Given the description of an element on the screen output the (x, y) to click on. 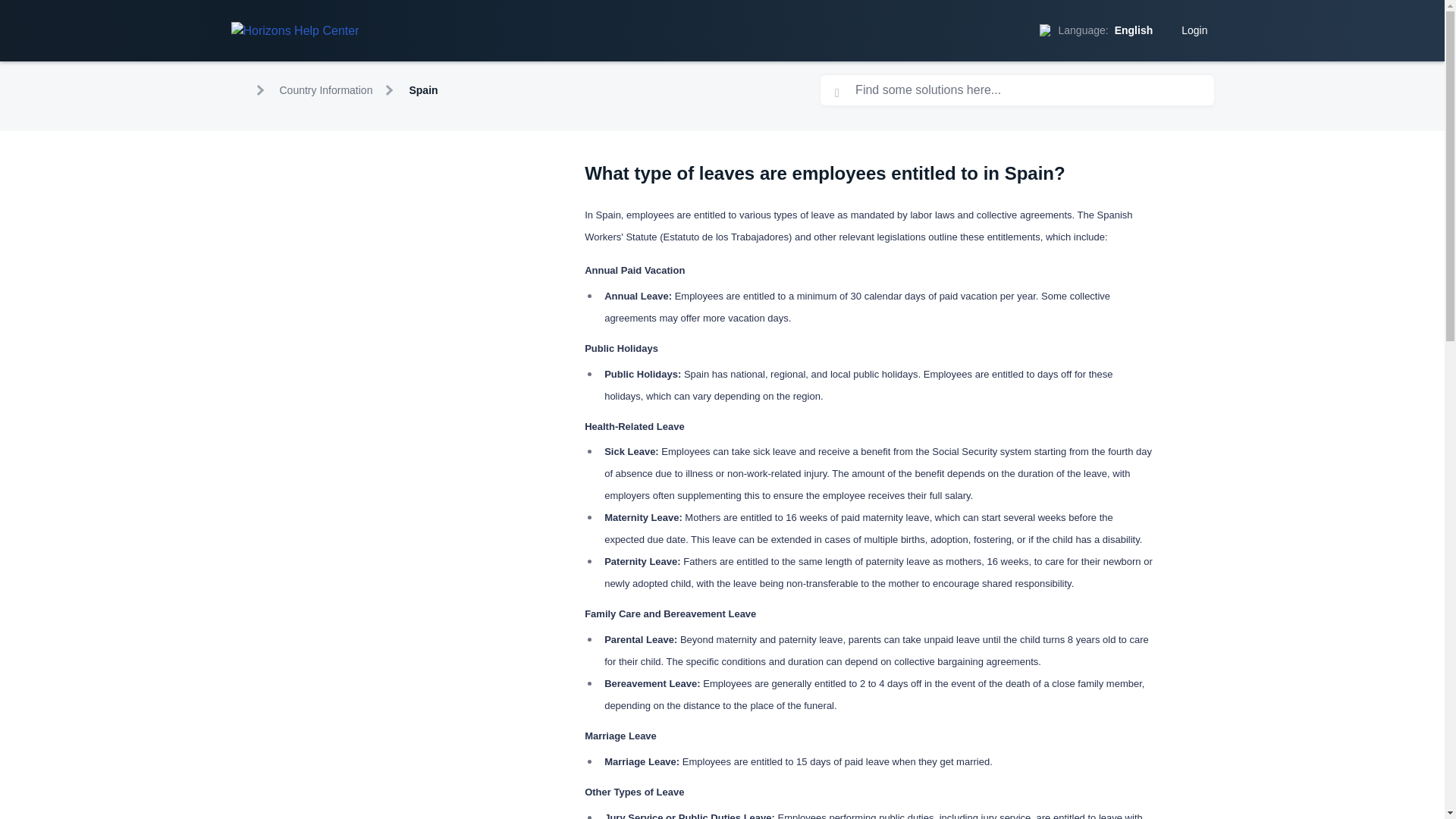
Country Information (325, 90)
English (1130, 29)
Login (1191, 29)
Horizons Help Center (294, 31)
